Given the description of an element on the screen output the (x, y) to click on. 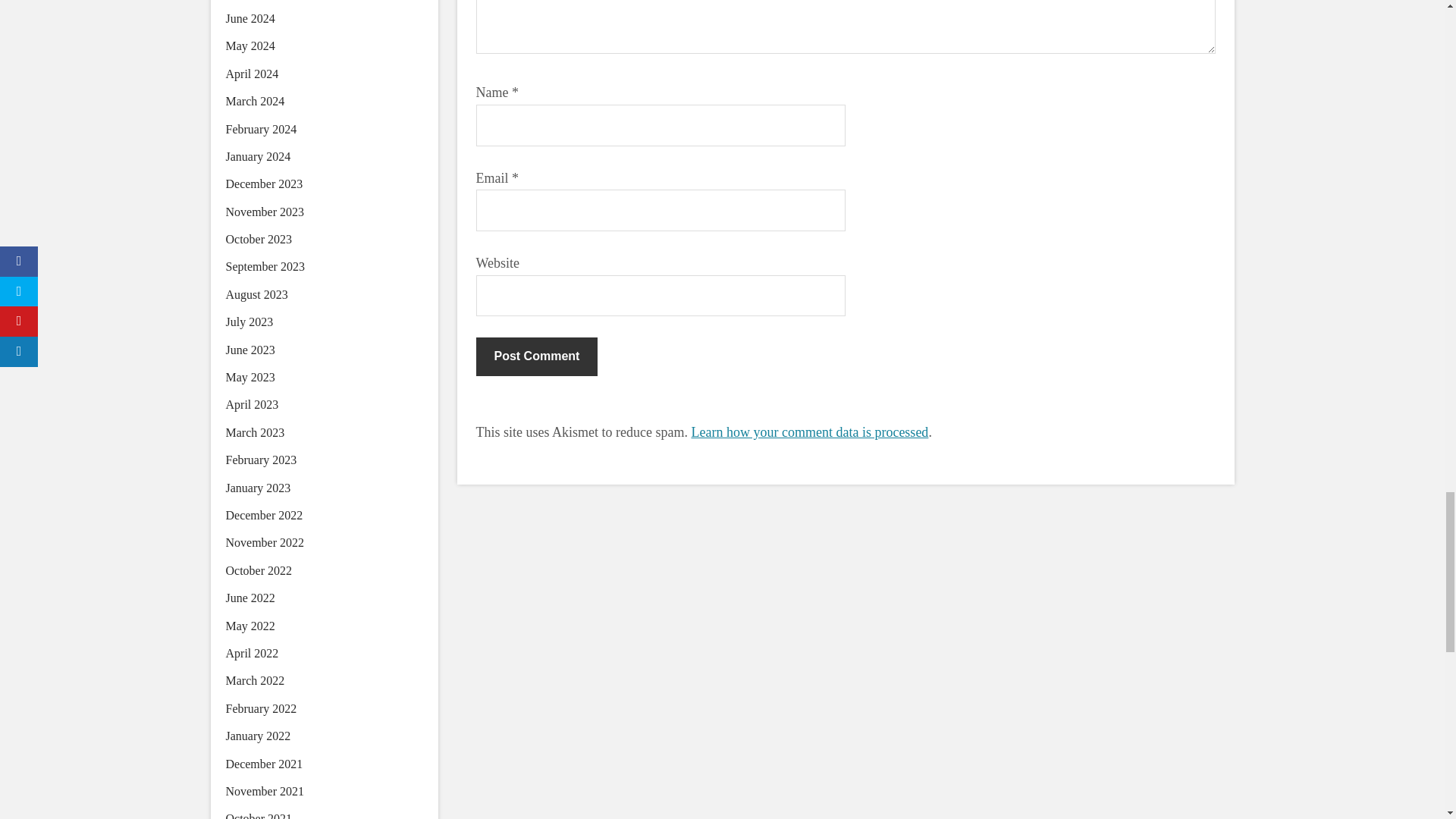
Post Comment (537, 356)
